Given the description of an element on the screen output the (x, y) to click on. 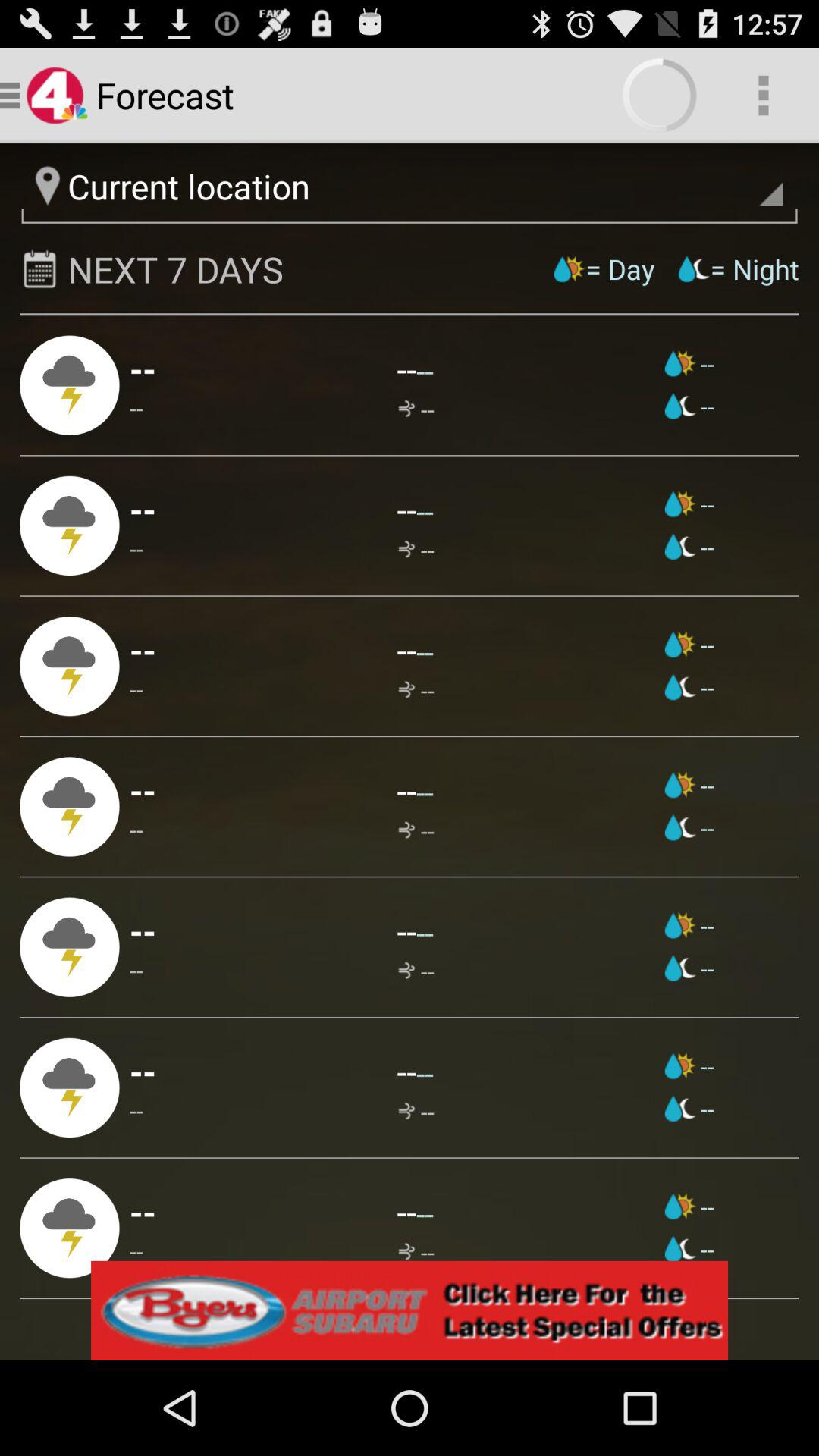
turn off the app to the right of -- app (424, 931)
